Given the description of an element on the screen output the (x, y) to click on. 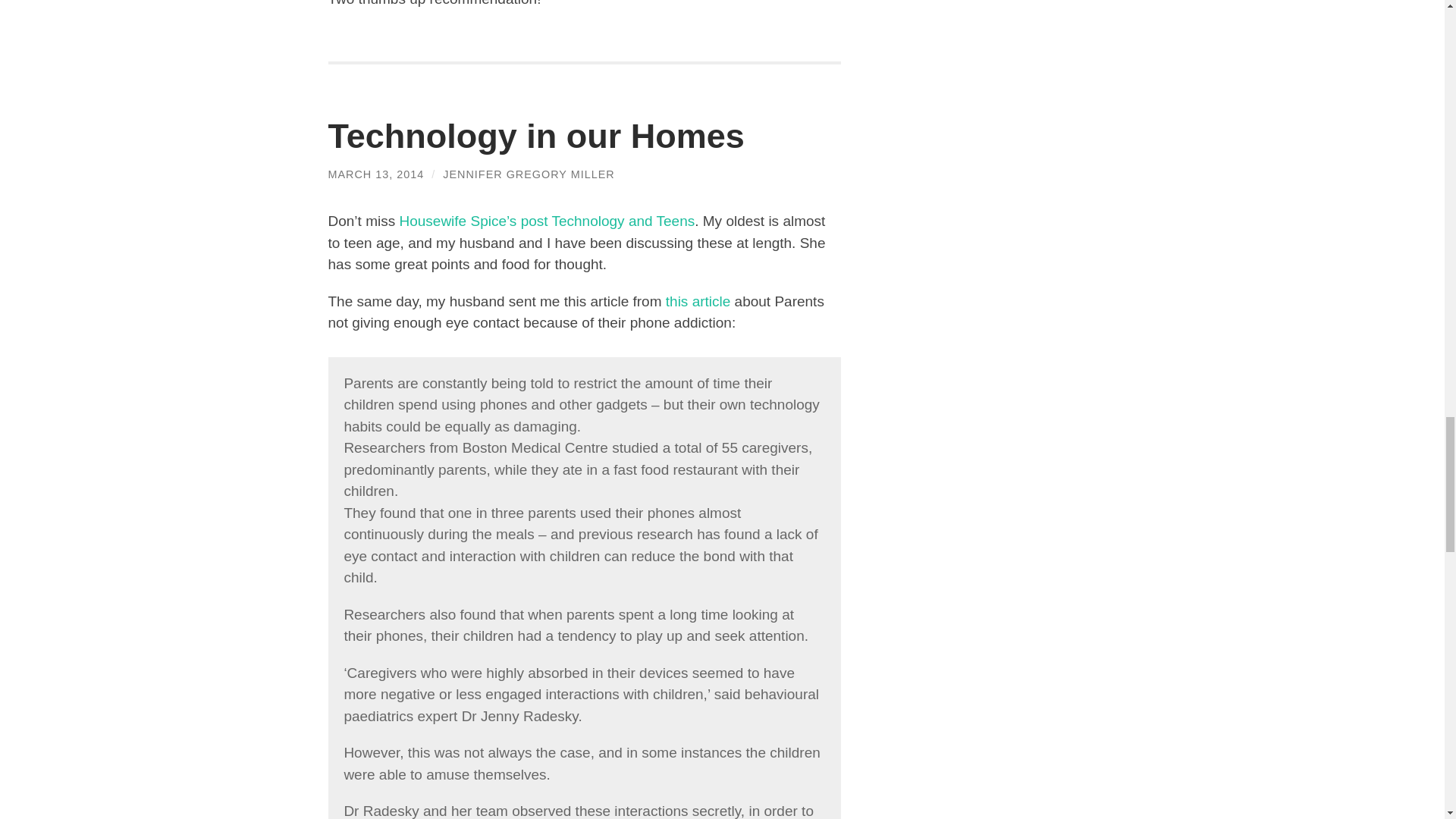
Posts by Jennifer Gregory Miller (528, 174)
